Given the description of an element on the screen output the (x, y) to click on. 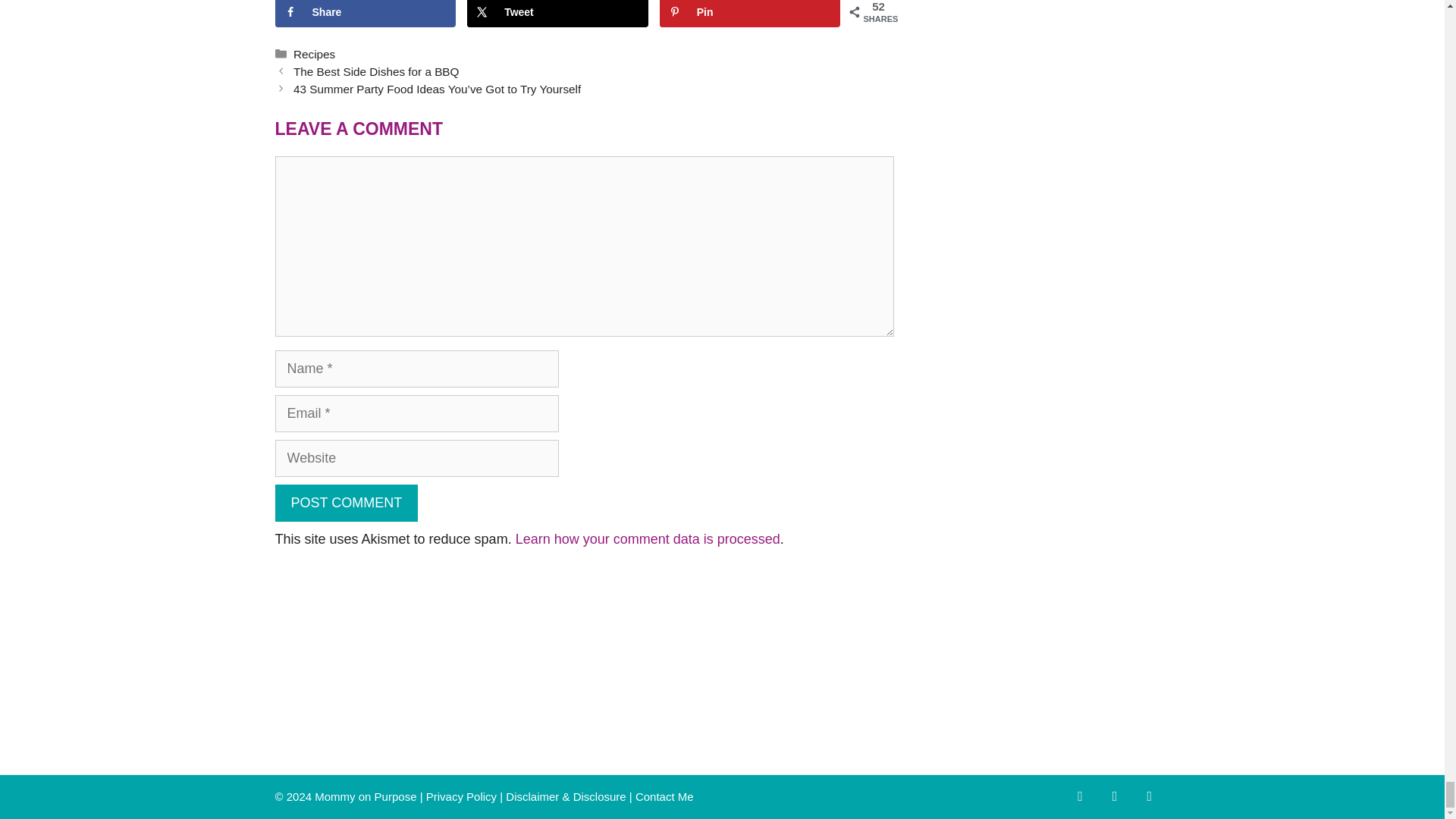
Share on Facebook (365, 13)
Post Comment (346, 502)
Share on X (557, 13)
Save to Pinterest (750, 13)
